Given the description of an element on the screen output the (x, y) to click on. 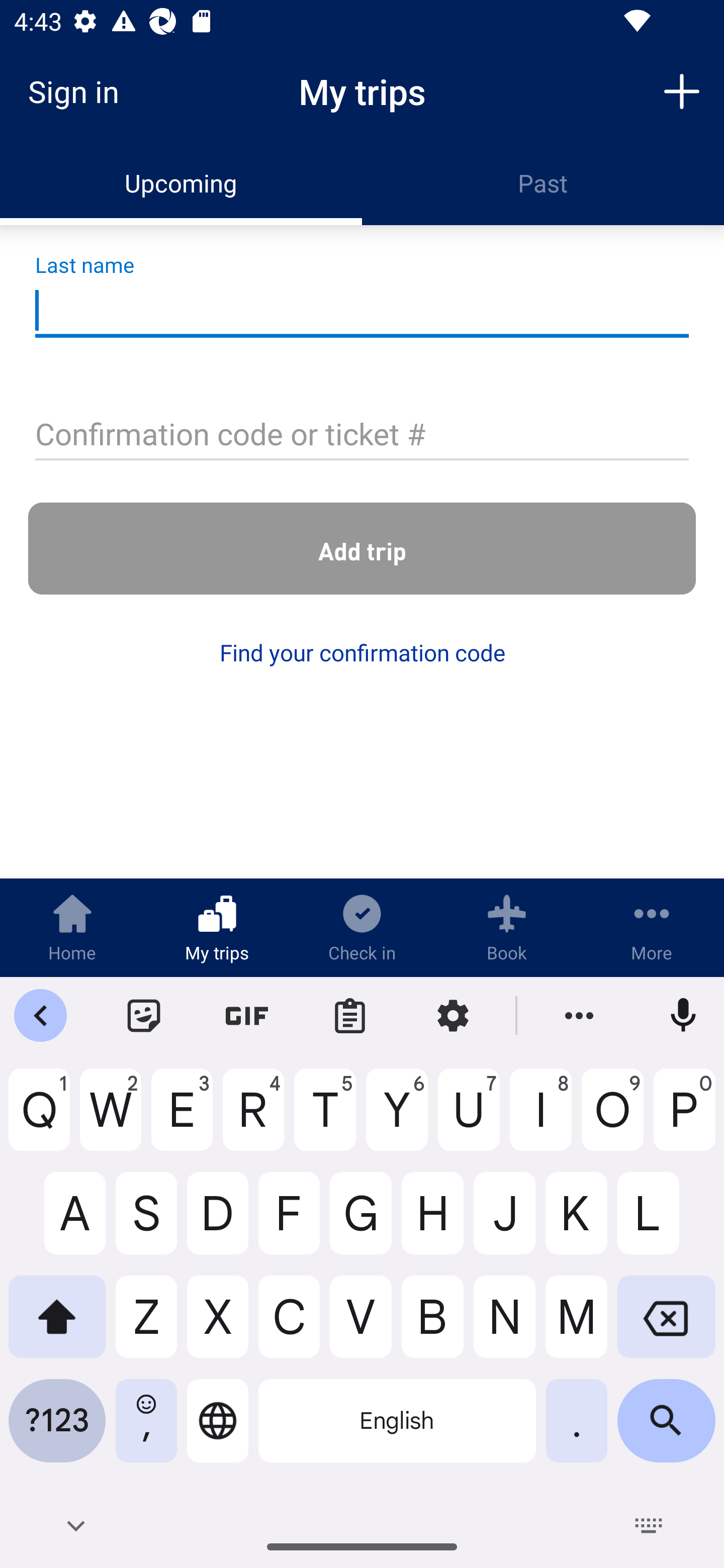
Sign in (80, 91)
Add trip (681, 90)
Past (543, 183)
Last name (361, 310)
Confirmation code or ticket # (361, 435)
Add trip (361, 548)
Home (72, 927)
Check in (361, 927)
Book (506, 927)
More (651, 927)
